Given the description of an element on the screen output the (x, y) to click on. 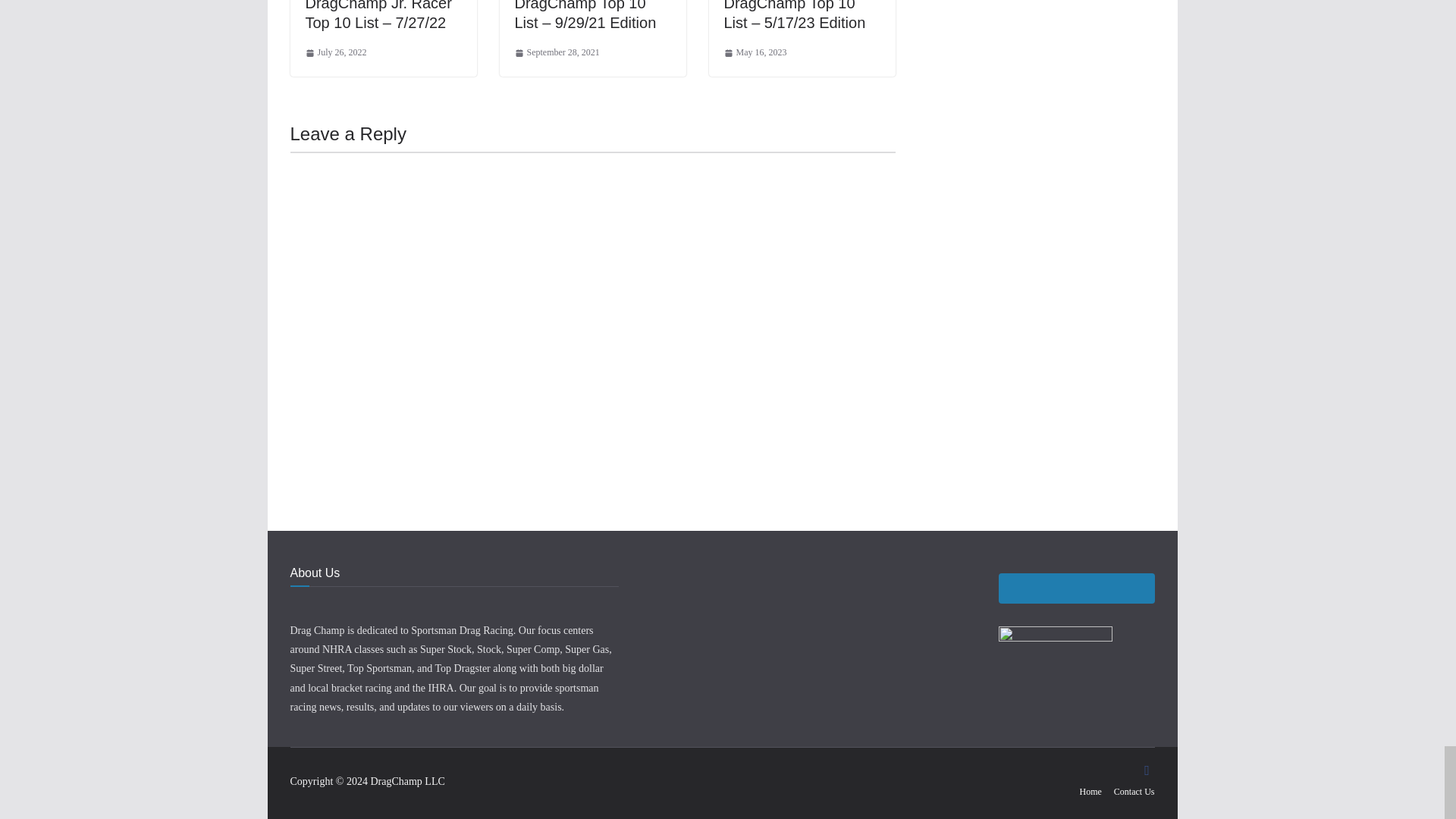
July 26, 2022 (335, 53)
10:25 pm (335, 53)
10:21 pm (555, 53)
10:37 pm (754, 53)
